Given the description of an element on the screen output the (x, y) to click on. 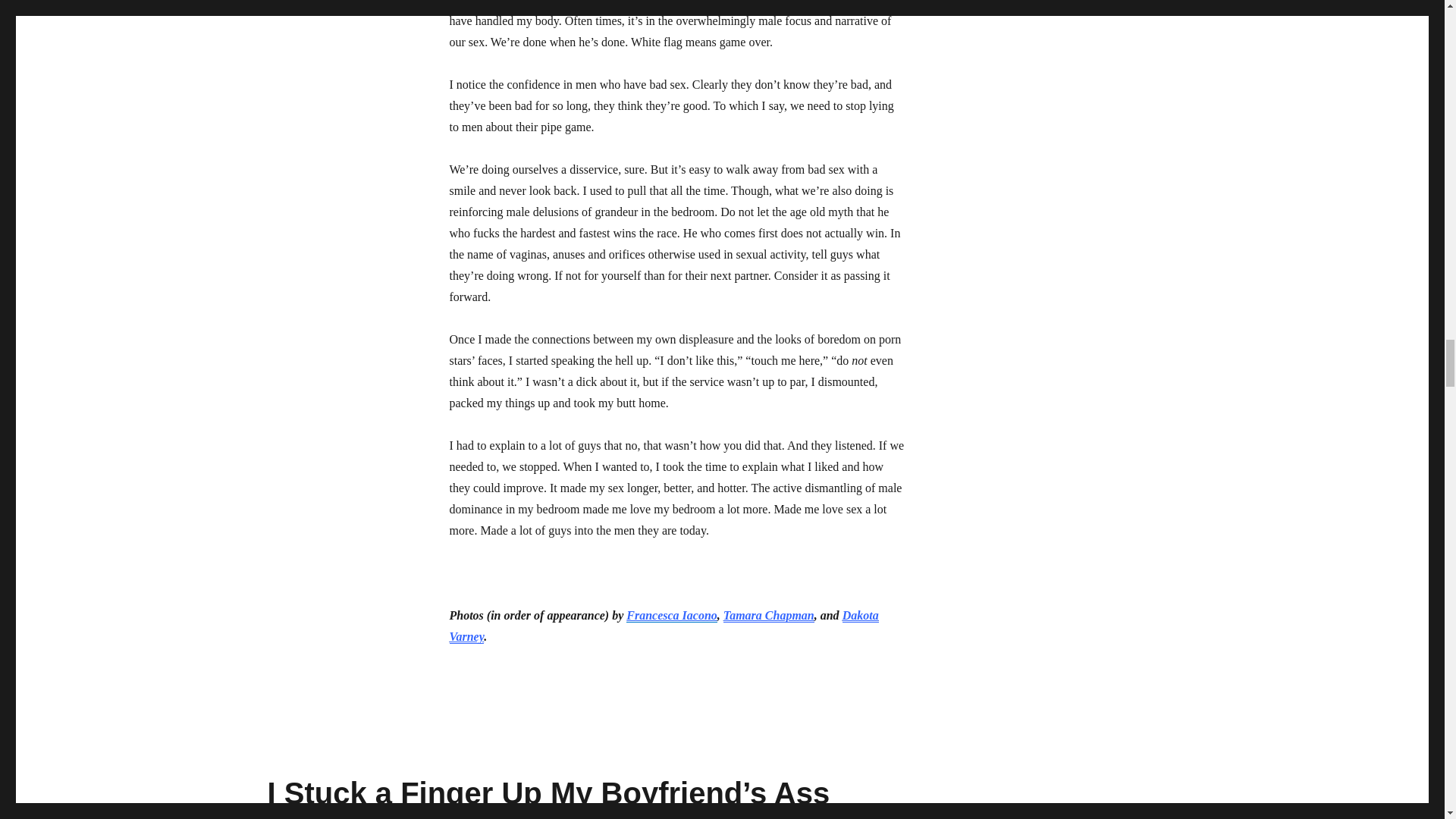
Dakota Varney (662, 625)
Francesca Iacono (671, 615)
Tamara Chapman (768, 615)
